Given the description of an element on the screen output the (x, y) to click on. 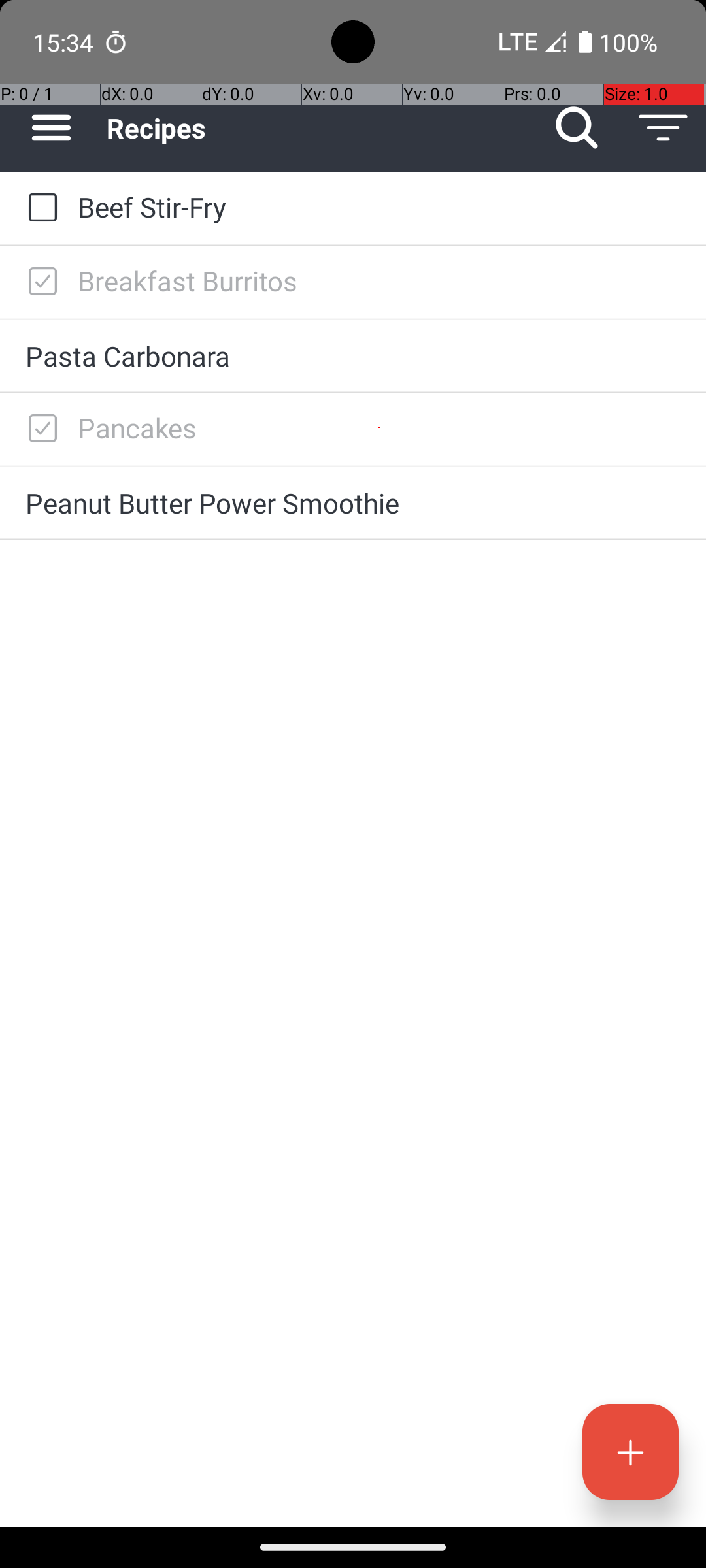
to-do: Beef Stir-Fry Element type: android.widget.CheckBox (38, 208)
Beef Stir-Fry Element type: android.widget.TextView (378, 206)
to-do: Breakfast Burritos Element type: android.widget.CheckBox (38, 282)
Breakfast Burritos Element type: android.widget.TextView (378, 280)
Pasta Carbonara Element type: android.widget.TextView (352, 355)
to-do: Pancakes Element type: android.widget.CheckBox (38, 429)
Pancakes Element type: android.widget.TextView (378, 427)
Peanut Butter Power Smoothie Element type: android.widget.TextView (352, 502)
